Given the description of an element on the screen output the (x, y) to click on. 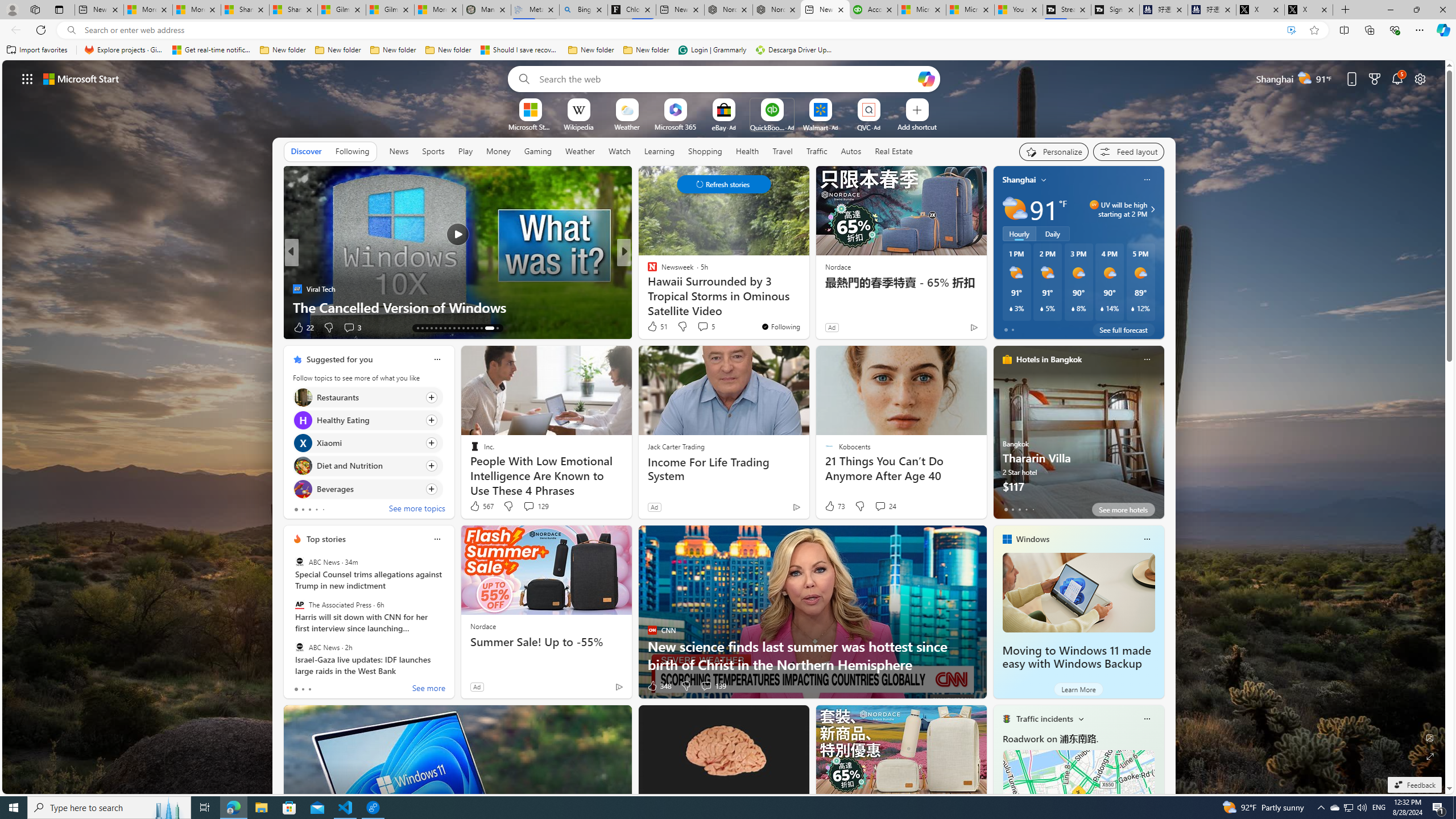
tab-4 (1032, 509)
Shopping (705, 151)
View comments 5 Comment (705, 326)
Login | Grammarly (712, 49)
Health (746, 151)
View comments 129 Comment (535, 505)
